Given the description of an element on the screen output the (x, y) to click on. 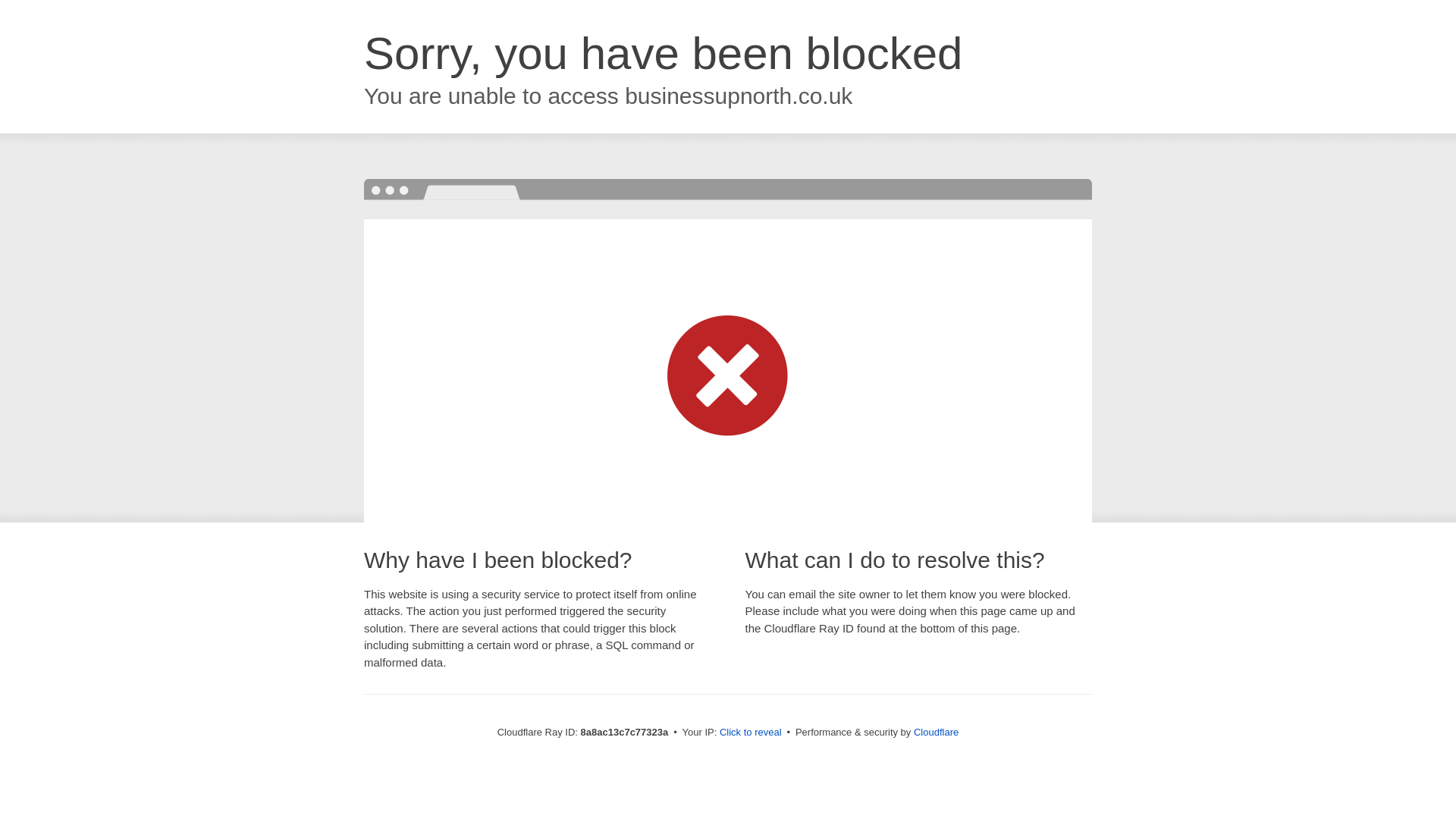
Click to reveal (750, 732)
Cloudflare (936, 731)
